Given the description of an element on the screen output the (x, y) to click on. 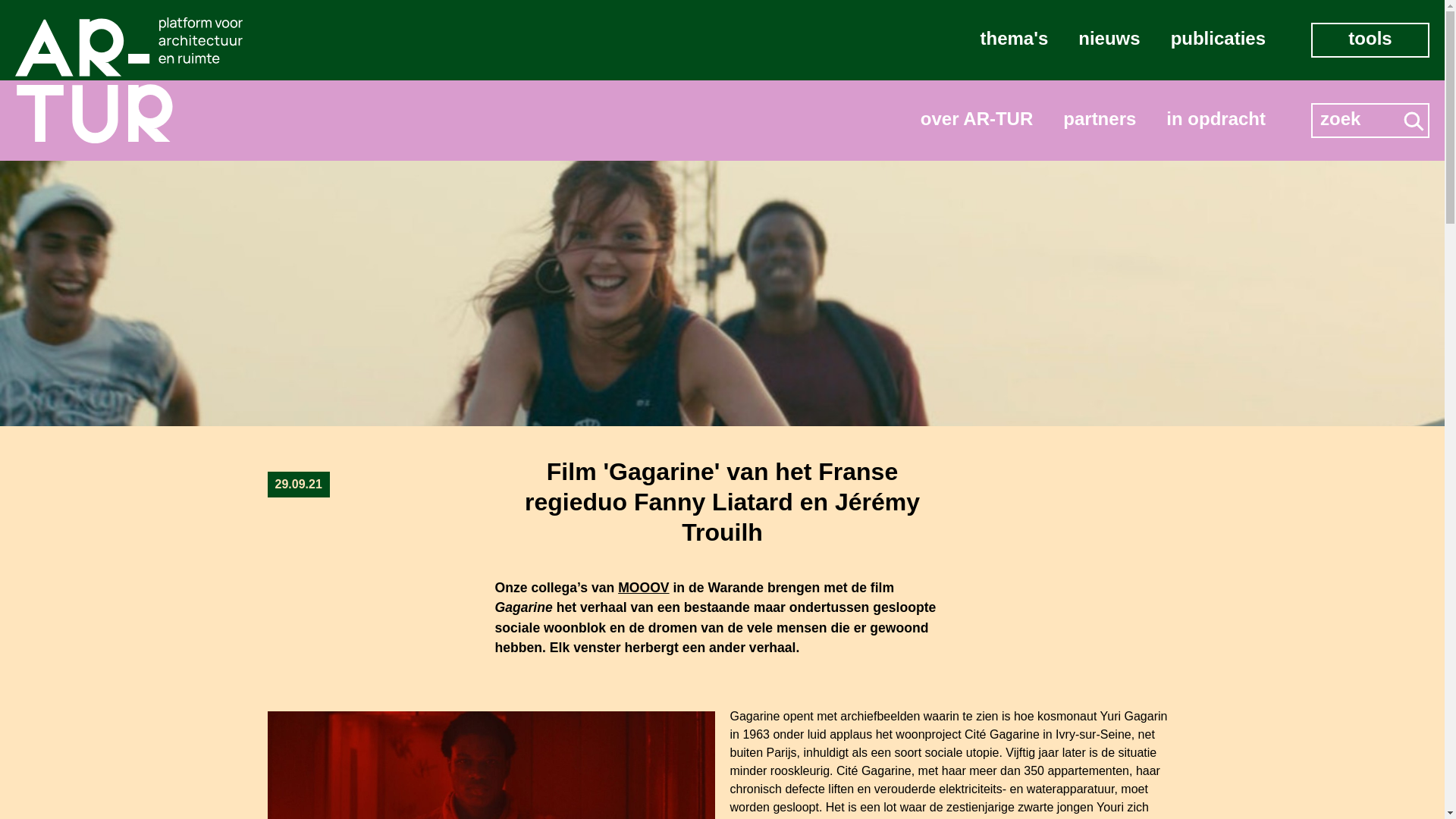
nieuws Element type: text (1108, 40)
MOOOV Element type: text (643, 587)
publicaties Element type: text (1217, 40)
partners Element type: text (1099, 120)
tools Element type: text (1370, 39)
thema's Element type: text (1014, 40)
in opdracht Element type: text (1215, 120)
over AR-TUR Element type: text (976, 120)
Zoek Element type: hover (1357, 118)
